Given the description of an element on the screen output the (x, y) to click on. 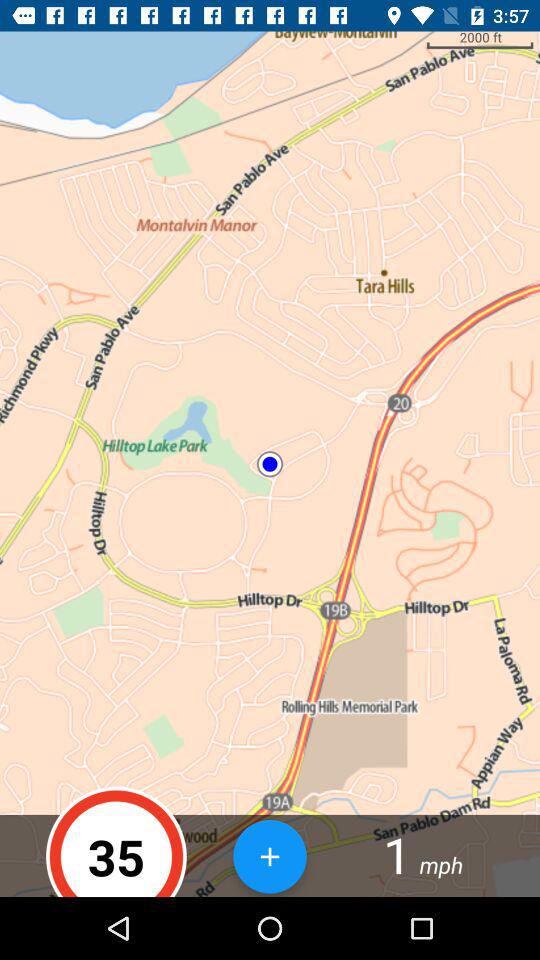
turn off the item to the left of 1 icon (269, 856)
